Given the description of an element on the screen output the (x, y) to click on. 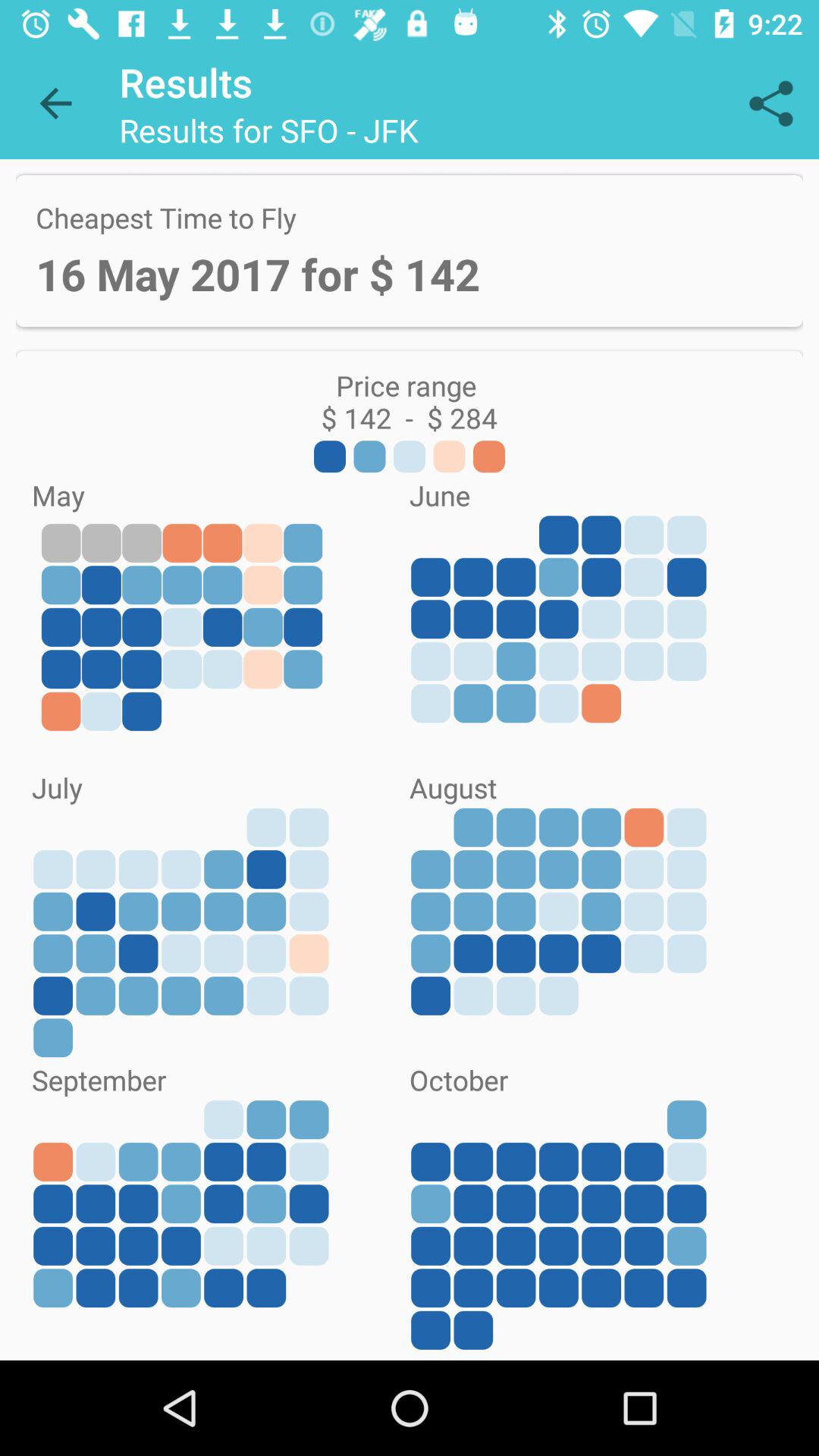
tap icon to the left of results (55, 103)
